Given the description of an element on the screen output the (x, y) to click on. 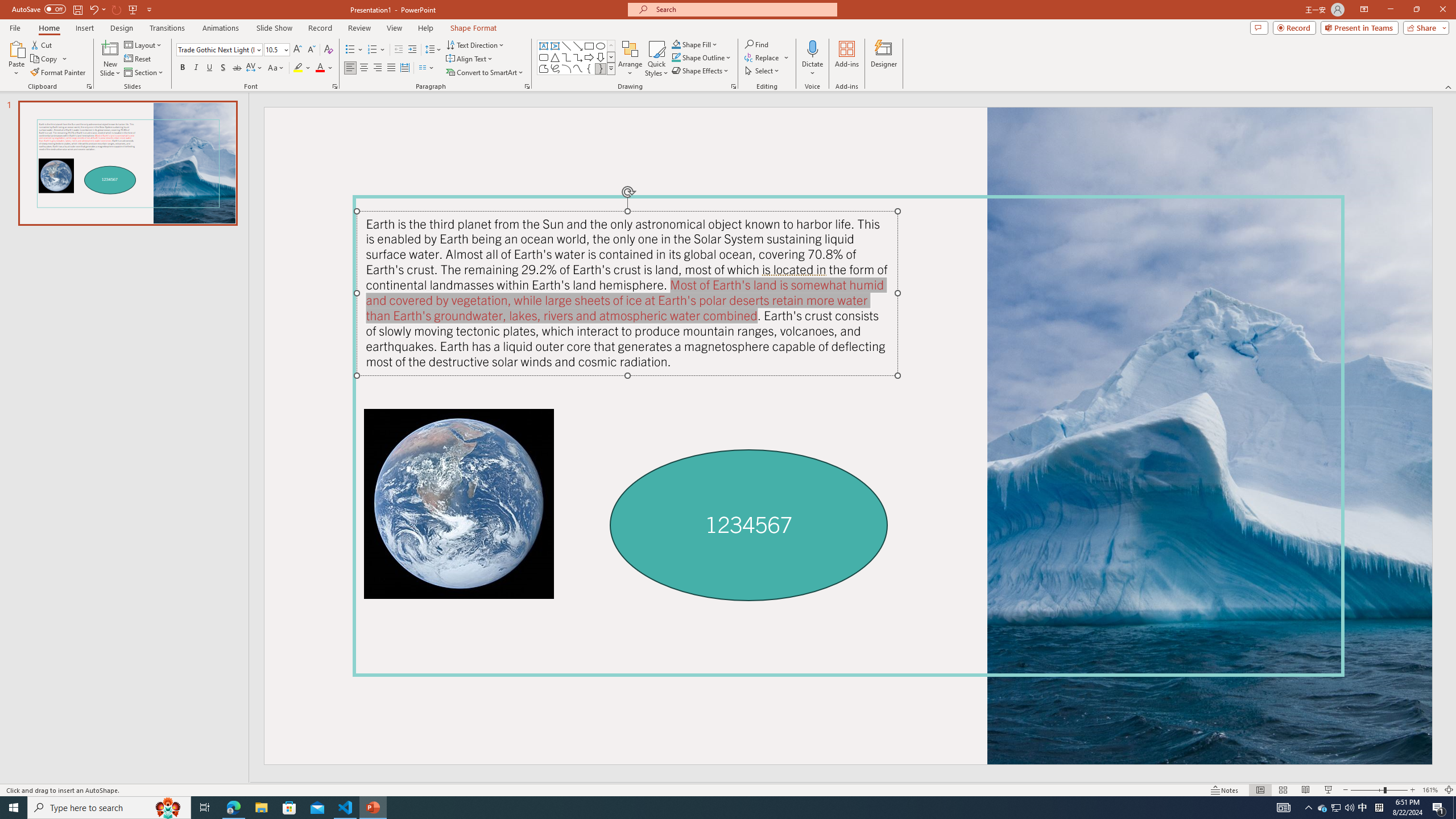
Text Box (543, 45)
Find... (756, 44)
Italic (195, 67)
Character Spacing (254, 67)
Bold (182, 67)
Cut (42, 44)
Rectangle: Rounded Corners (543, 57)
Change Case (276, 67)
Line Spacing (433, 49)
